Given the description of an element on the screen output the (x, y) to click on. 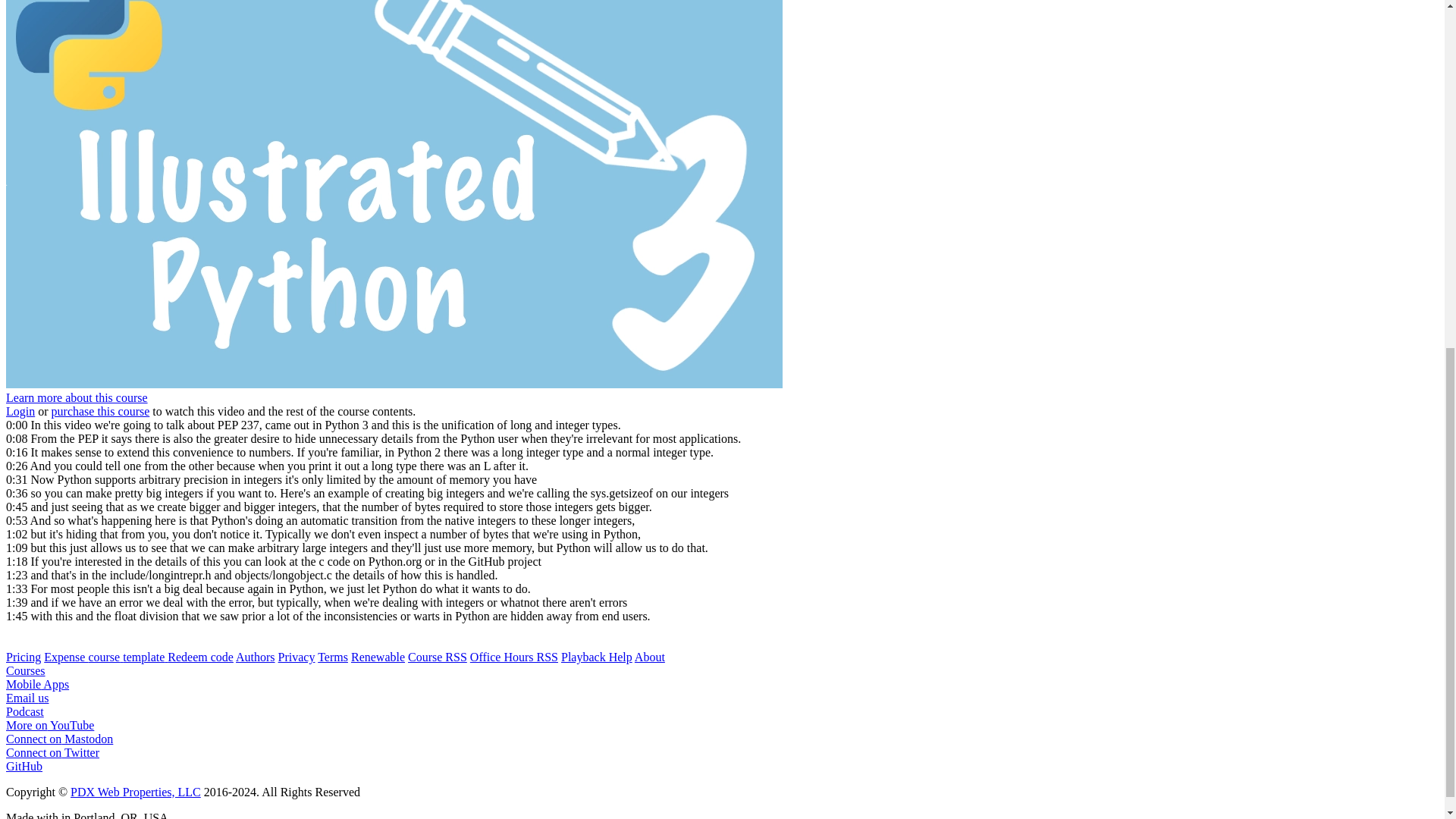
Terms of Service (332, 656)
Terms (332, 656)
Playback Help (595, 656)
purchase this course (99, 410)
Login (19, 410)
Course RSS (437, 656)
PDX Web Properties, LLC (134, 791)
Expense course template (105, 656)
Office Hours RSS (513, 656)
Renewable (377, 656)
Pricing policies and group discounts (22, 656)
Privacy (296, 656)
Learn more about this course (76, 397)
Pricing (22, 656)
